Given the description of an element on the screen output the (x, y) to click on. 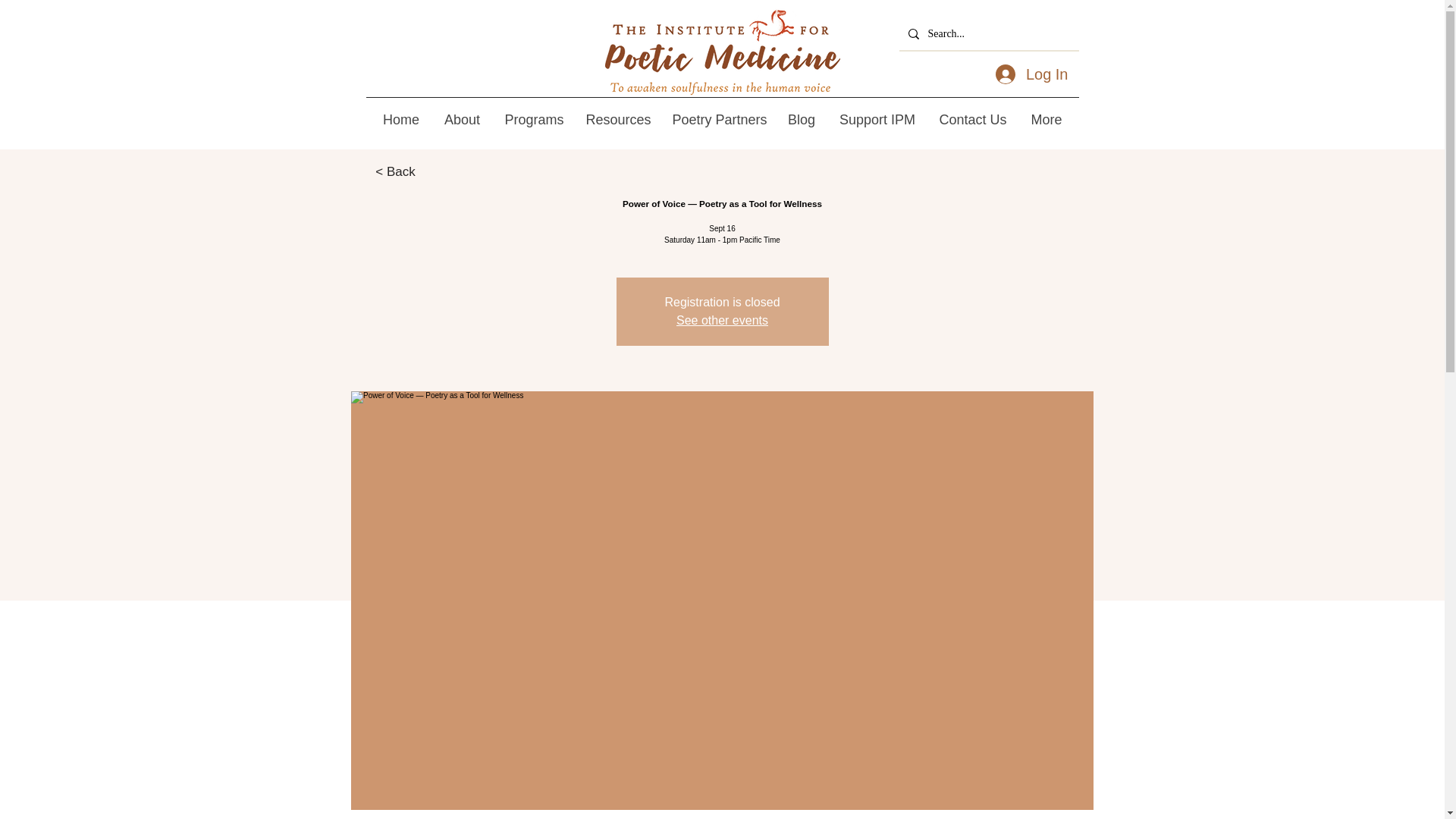
Blog (800, 119)
Home (399, 119)
Poetry Partners (716, 119)
Log In (1031, 73)
Resources (616, 119)
Programs (533, 119)
See other events (722, 319)
Support IPM (876, 119)
Contact Us (971, 119)
About (461, 119)
